Given the description of an element on the screen output the (x, y) to click on. 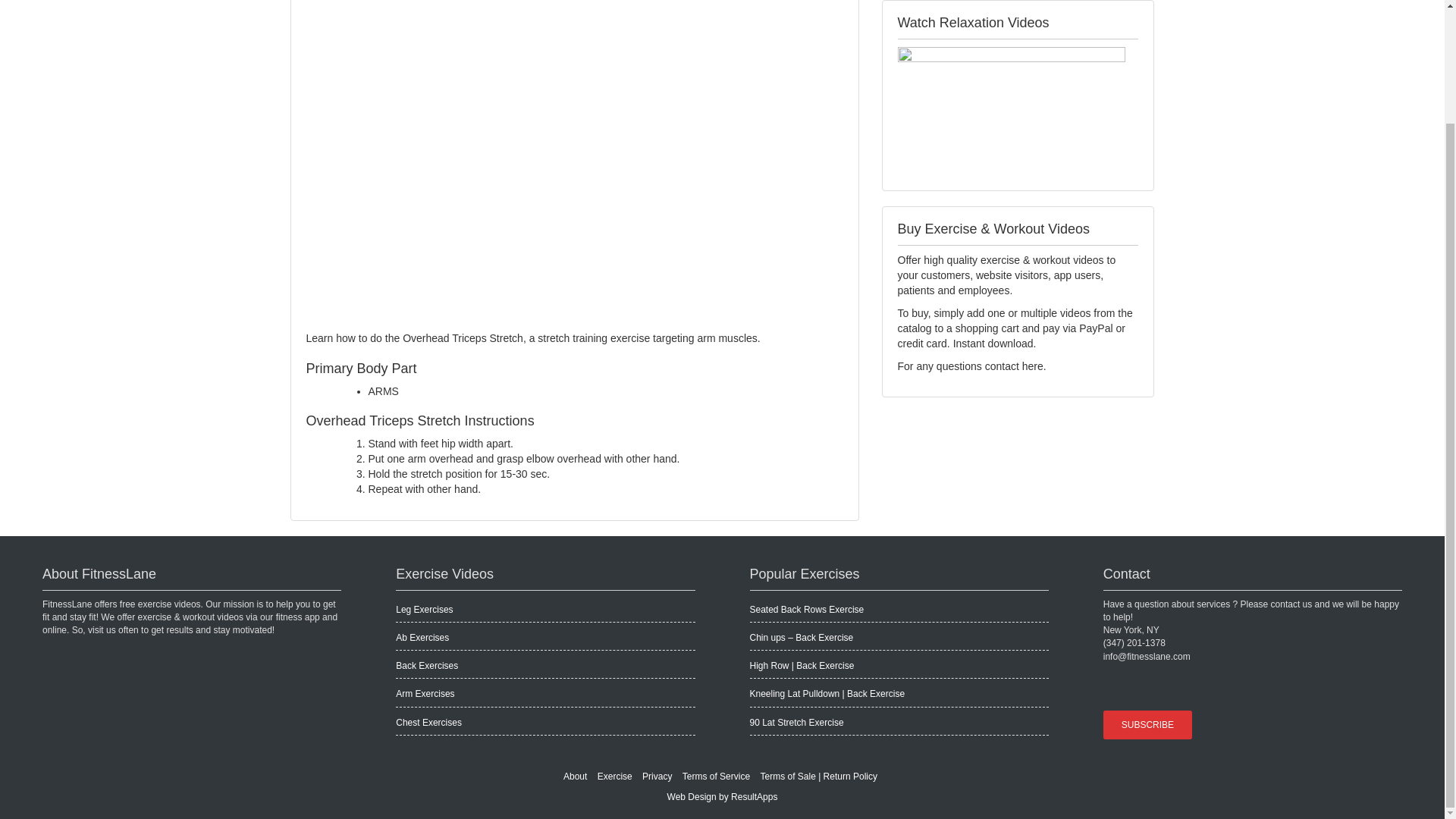
Back Exercises (427, 665)
Web Design by ResultApps (721, 796)
SUBSCRIBE (1147, 724)
Terms of Service (715, 776)
90 Lat Stretch Exercise (796, 722)
Arm Exercises (425, 693)
Exercise (613, 776)
contact here (1014, 366)
Chest Exercises (428, 722)
Seated Back Rows Exercise (806, 609)
About (574, 776)
Privacy (656, 776)
Leg Exercises (424, 609)
Ab Exercises (422, 637)
